Given the description of an element on the screen output the (x, y) to click on. 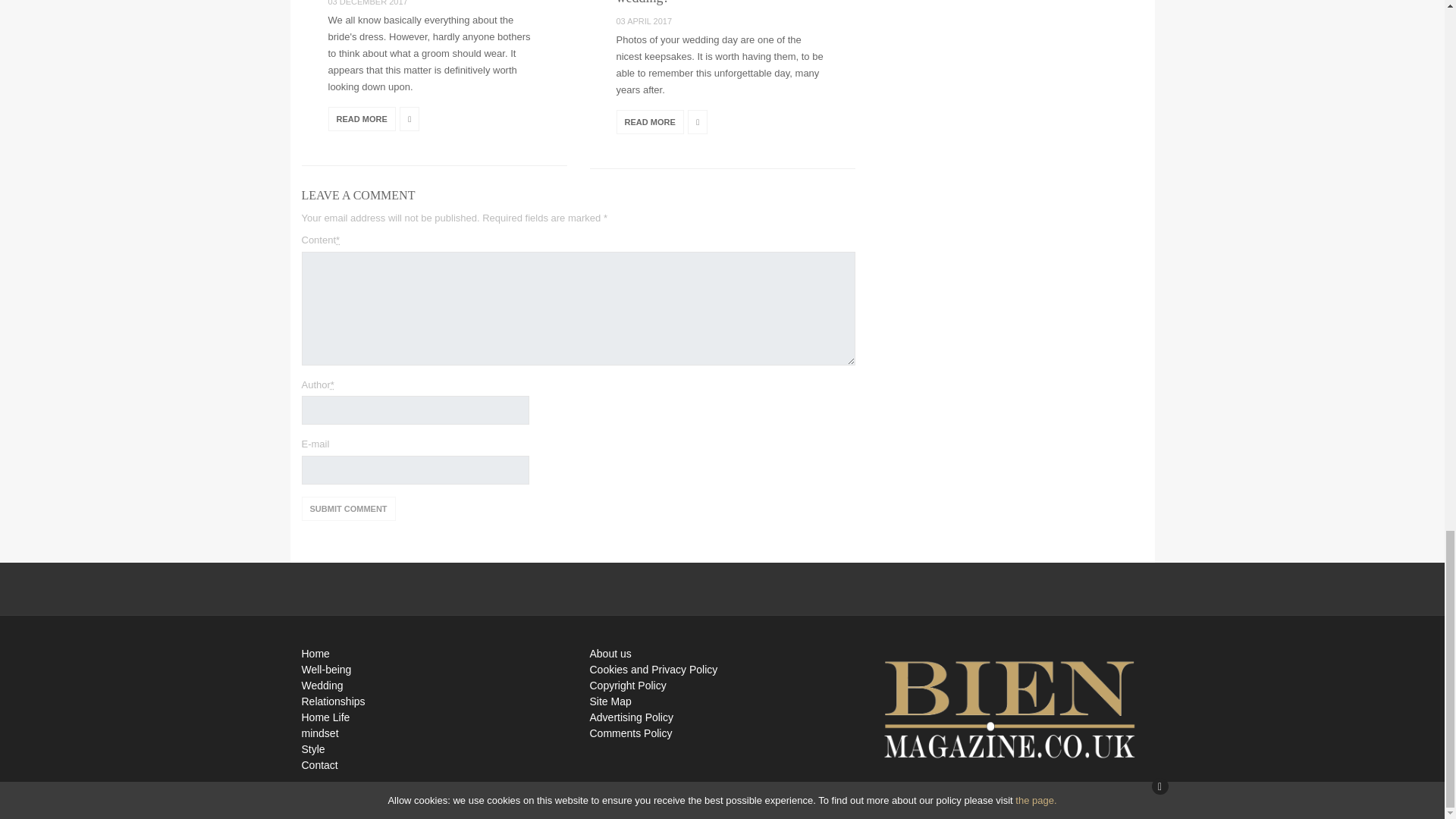
Submit comment (348, 508)
Should you have photos of your own wedding? (715, 2)
Submit comment (348, 508)
READ MORE (648, 121)
READ MORE (360, 119)
